Given the description of an element on the screen output the (x, y) to click on. 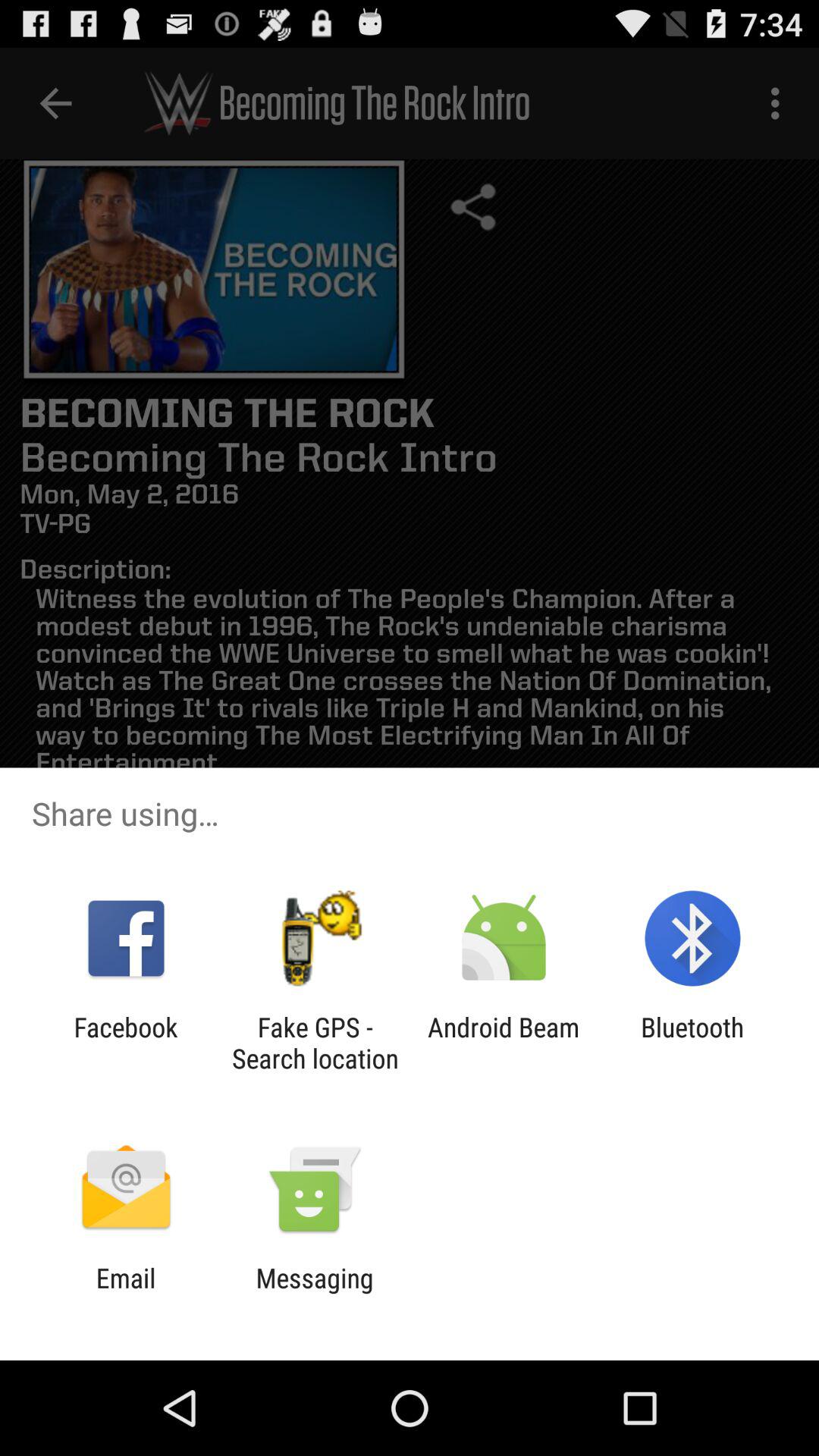
swipe to android beam item (503, 1042)
